Given the description of an element on the screen output the (x, y) to click on. 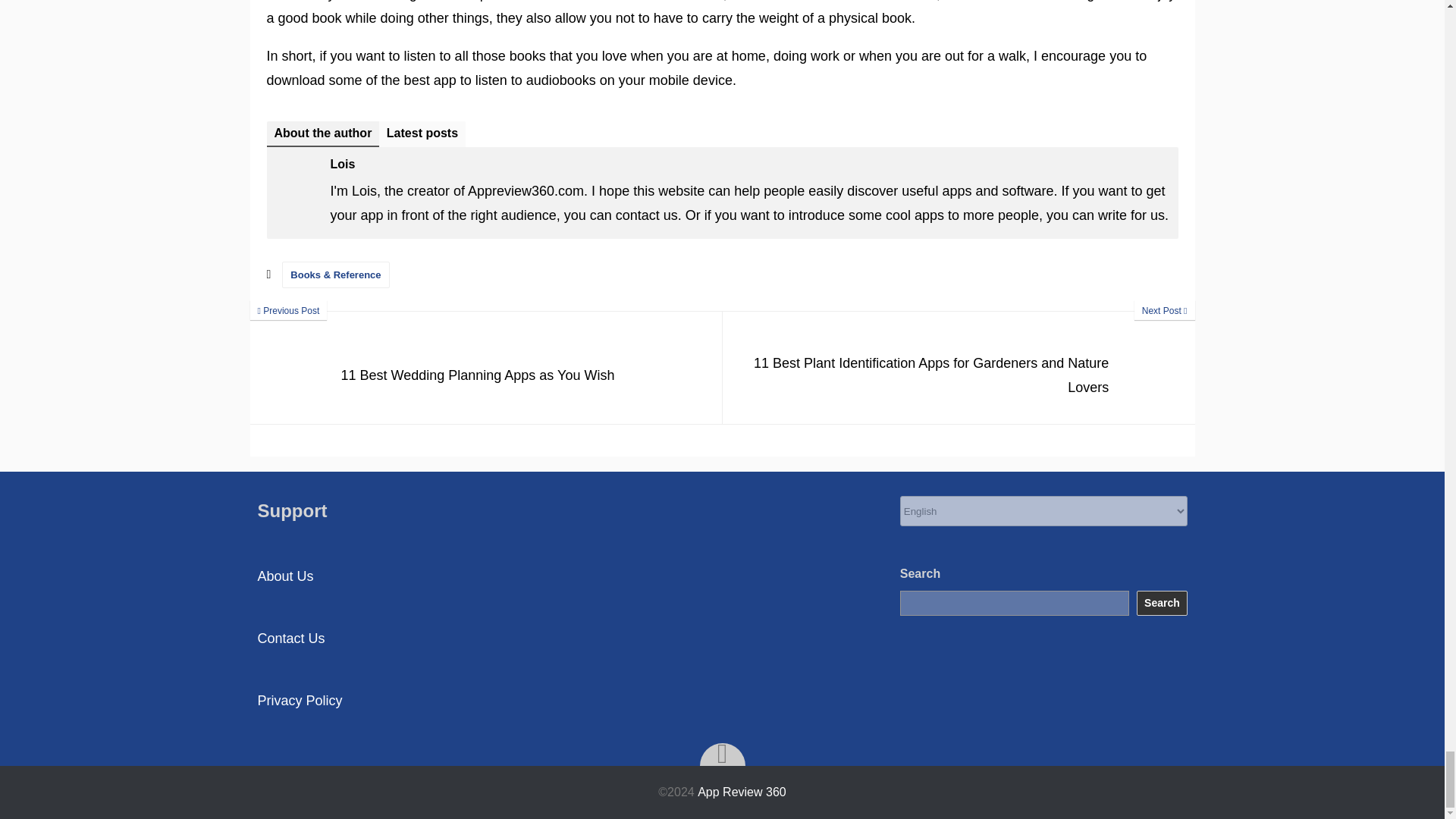
11 Best Wedding Planning Apps as You Wish (486, 368)
